Given the description of an element on the screen output the (x, y) to click on. 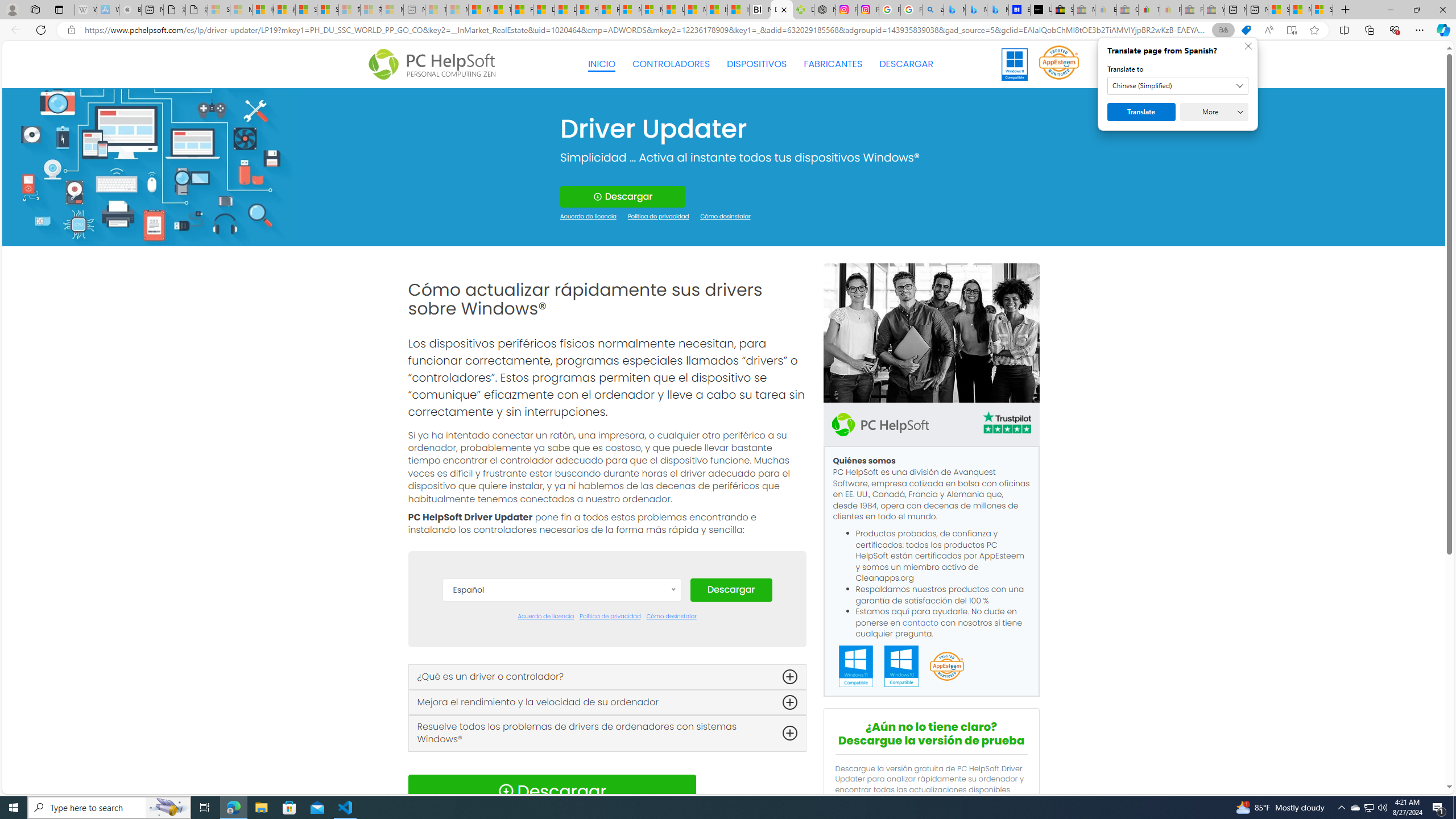
FABRICANTES (833, 64)
Buy iPad - Apple - Sleeping (130, 9)
INICIO (601, 64)
DESCARGAR (906, 64)
Top Stories - MSN - Sleeping (435, 9)
App Esteem (945, 666)
